Given the description of an element on the screen output the (x, y) to click on. 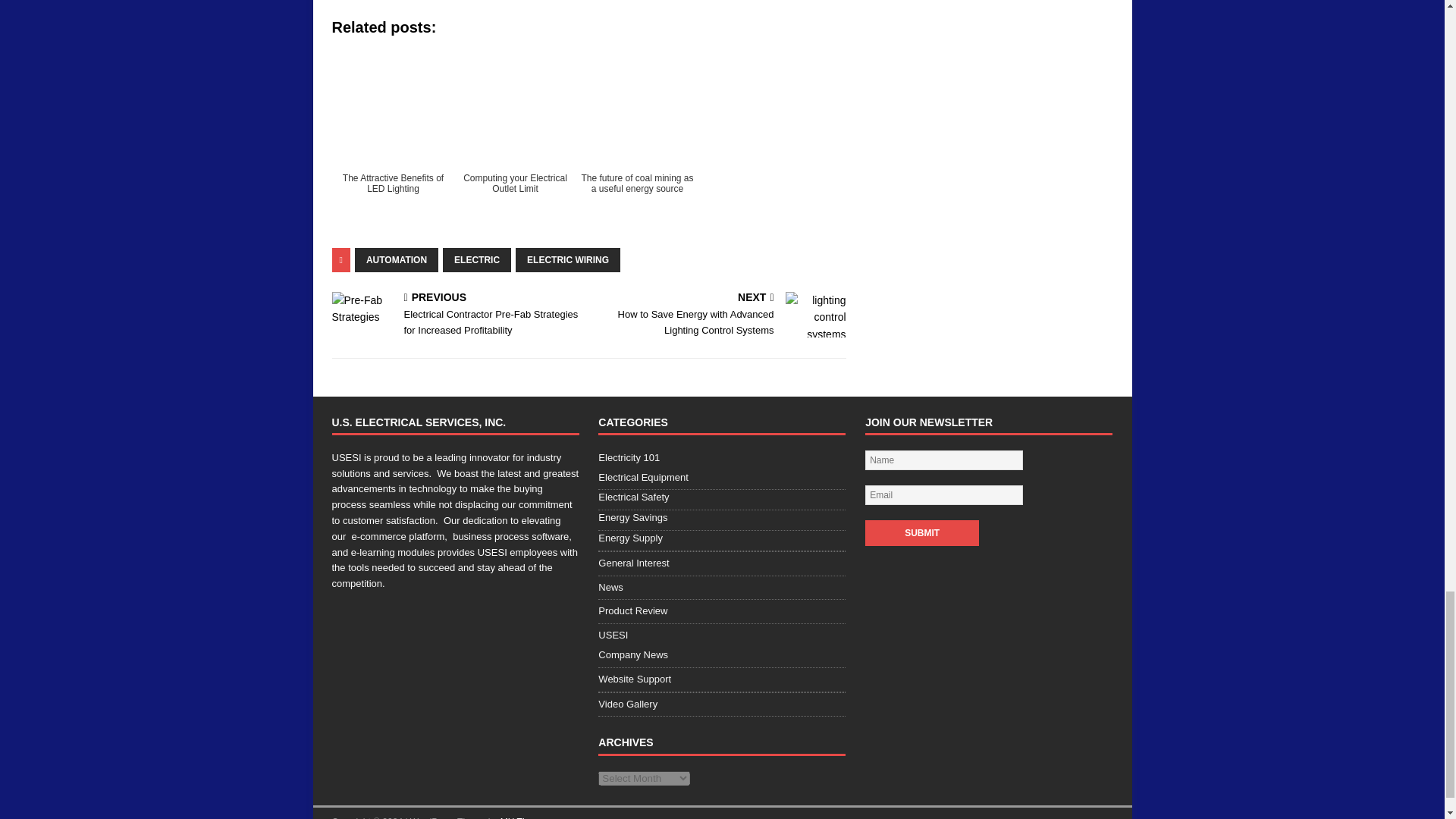
ELECTRIC WIRING (567, 259)
AUTOMATION (396, 259)
Submit (921, 533)
ELECTRIC (476, 259)
